Given the description of an element on the screen output the (x, y) to click on. 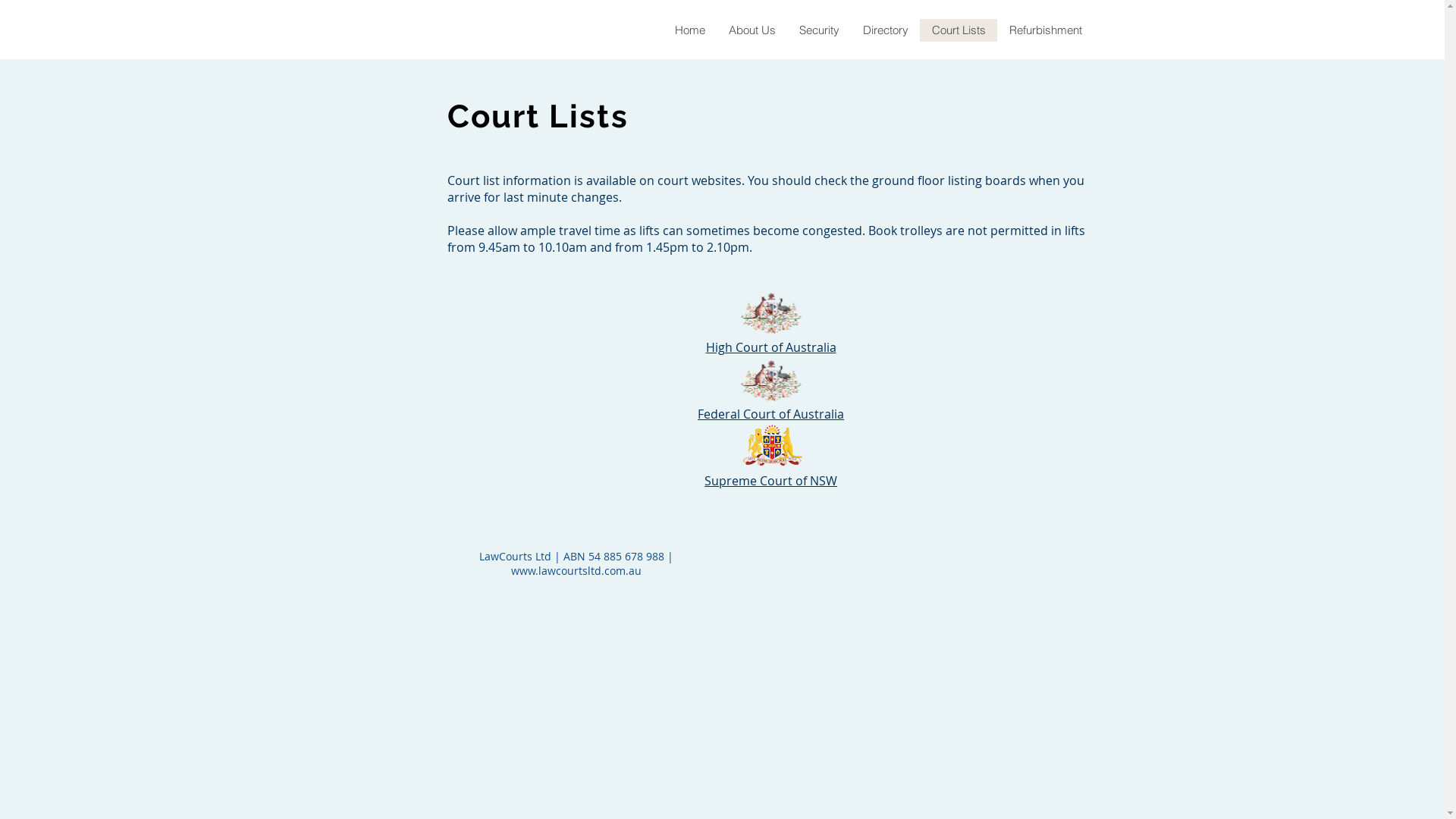
Directory Element type: text (884, 29)
About Us Element type: text (750, 29)
Federal Court of Australia Element type: text (770, 413)
Home Element type: text (689, 29)
Security Element type: text (818, 29)
High Court of Australia Element type: text (770, 346)
www.lawcourtsltd.com.au Element type: text (576, 570)
Court Lists Element type: text (957, 29)
Supreme Court of NSW Element type: text (770, 480)
Refurbishment Element type: text (1044, 29)
